Given the description of an element on the screen output the (x, y) to click on. 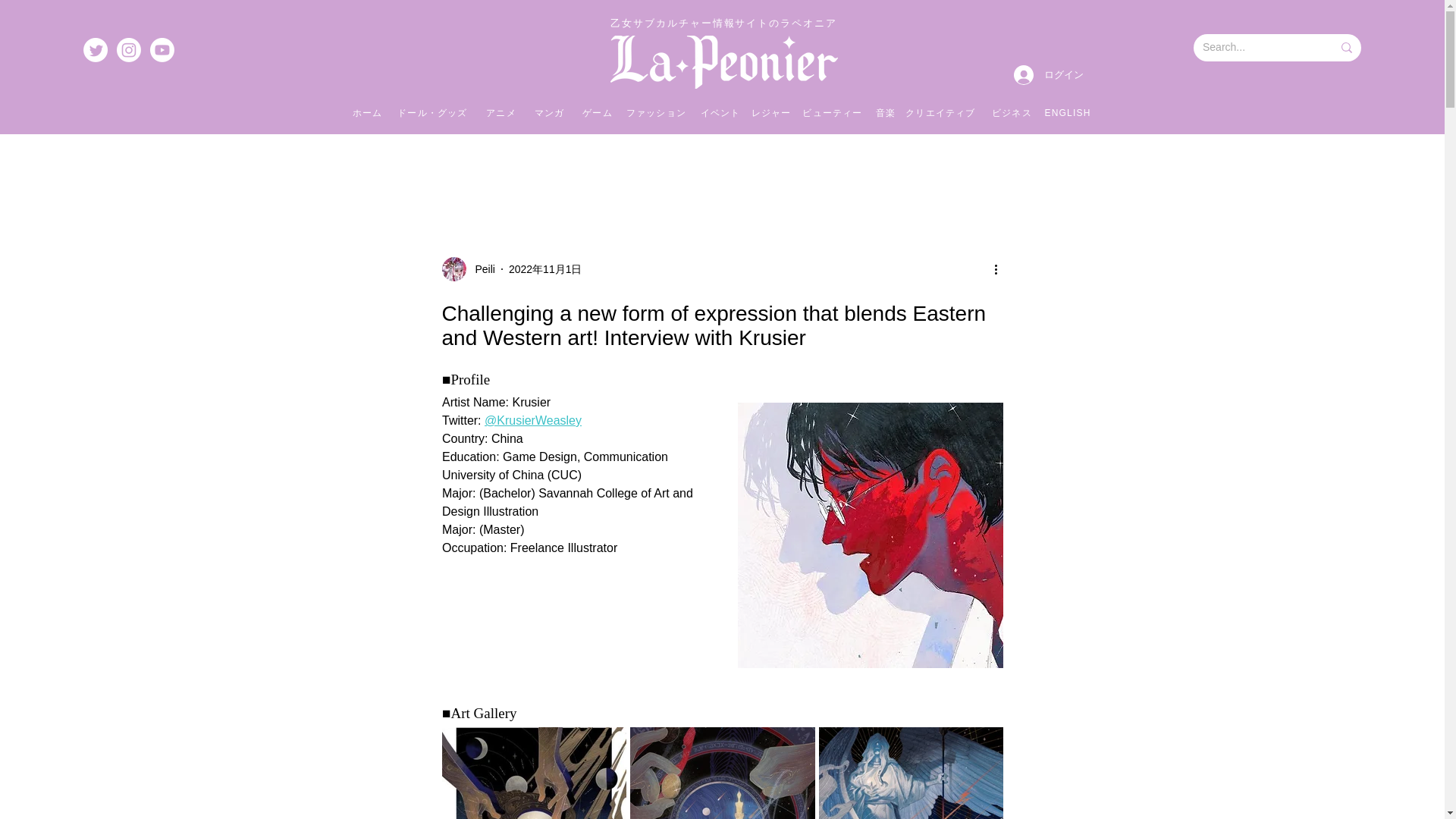
Peili (468, 269)
Peili (480, 268)
ENGLISH (1070, 112)
